Given the description of an element on the screen output the (x, y) to click on. 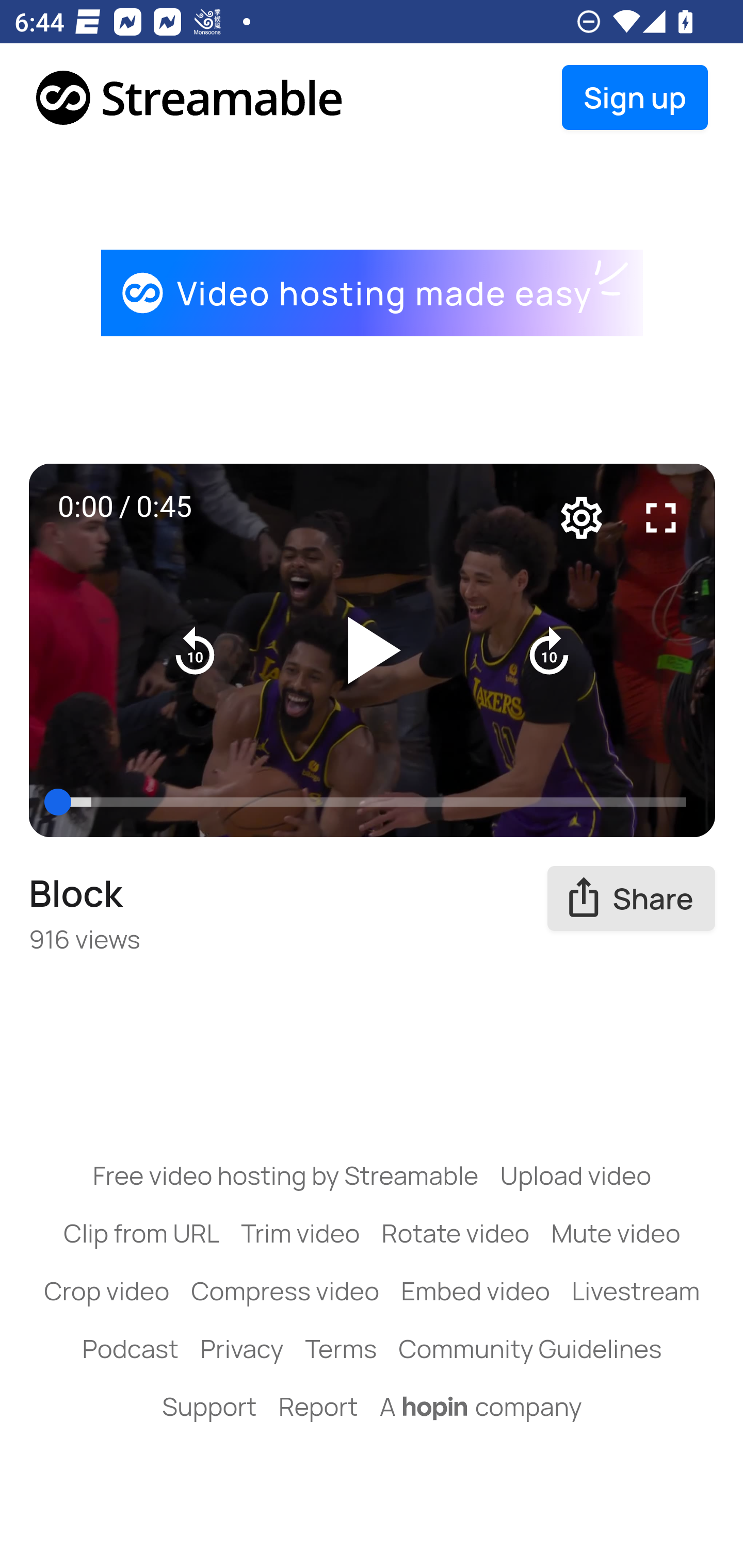
Sign up (634, 97)
Streamable Logo (189, 97)
Options (o) (581, 516)
Full screen (f) (662, 516)
Play (k) (372, 650)
Seek back (j) (195, 650)
Seek forward (l) (549, 650)
ios_share Share (631, 897)
Free video hosting by Streamable (286, 1174)
Upload video (574, 1174)
Clip from URL (141, 1232)
Trim video (300, 1232)
Rotate video (455, 1232)
Mute video (615, 1232)
Crop video (107, 1290)
Compress video (284, 1290)
Embed video (475, 1290)
Livestream (635, 1290)
Podcast (130, 1348)
Privacy (241, 1348)
Terms (340, 1348)
Community Guidelines (529, 1348)
Support (208, 1406)
Report (317, 1406)
A company A company (480, 1406)
